Given the description of an element on the screen output the (x, y) to click on. 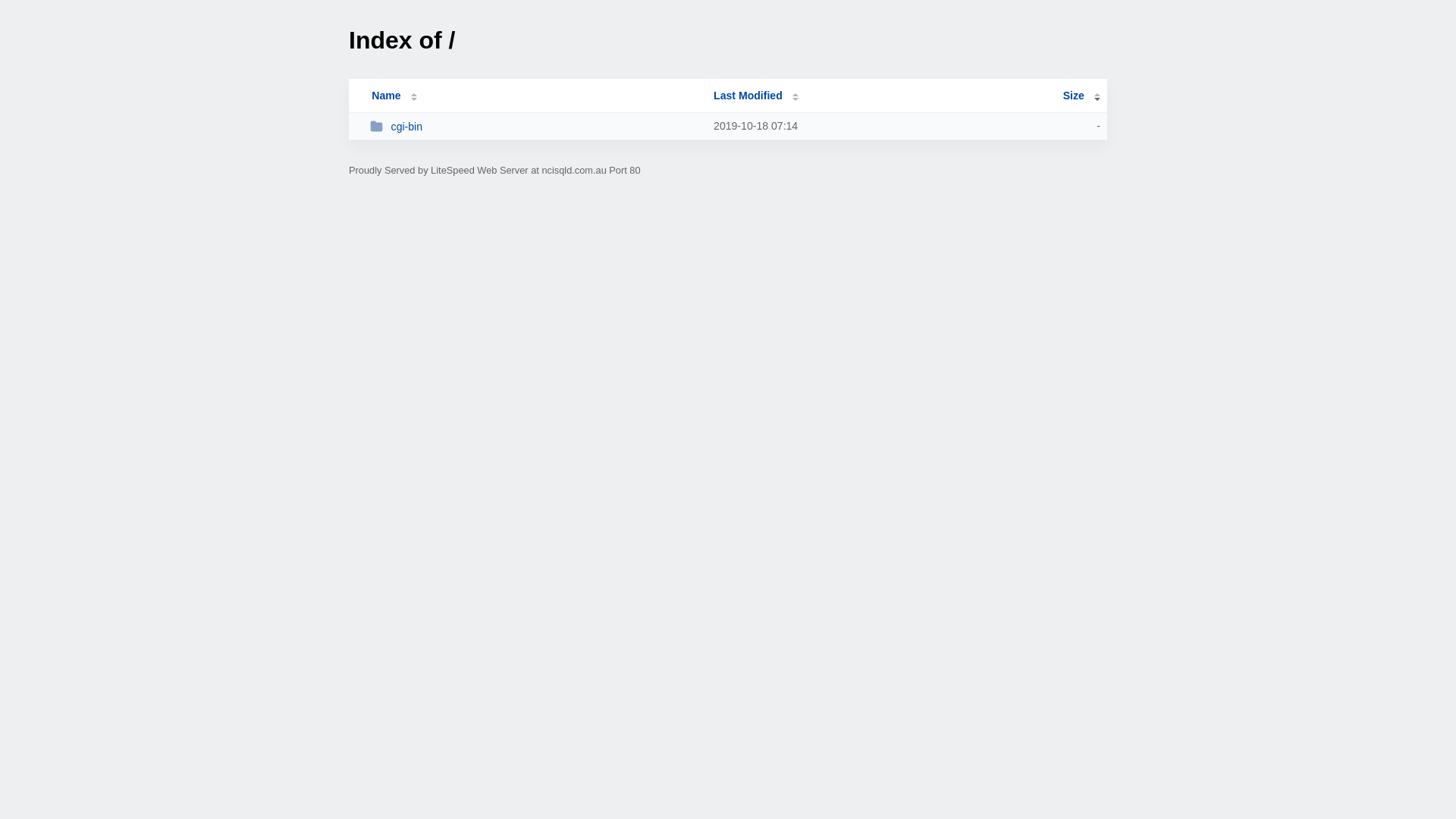
Last Modified Element type: text (755, 95)
Size Element type: text (1081, 95)
cgi-bin Element type: text (534, 125)
Name Element type: text (385, 95)
